Given the description of an element on the screen output the (x, y) to click on. 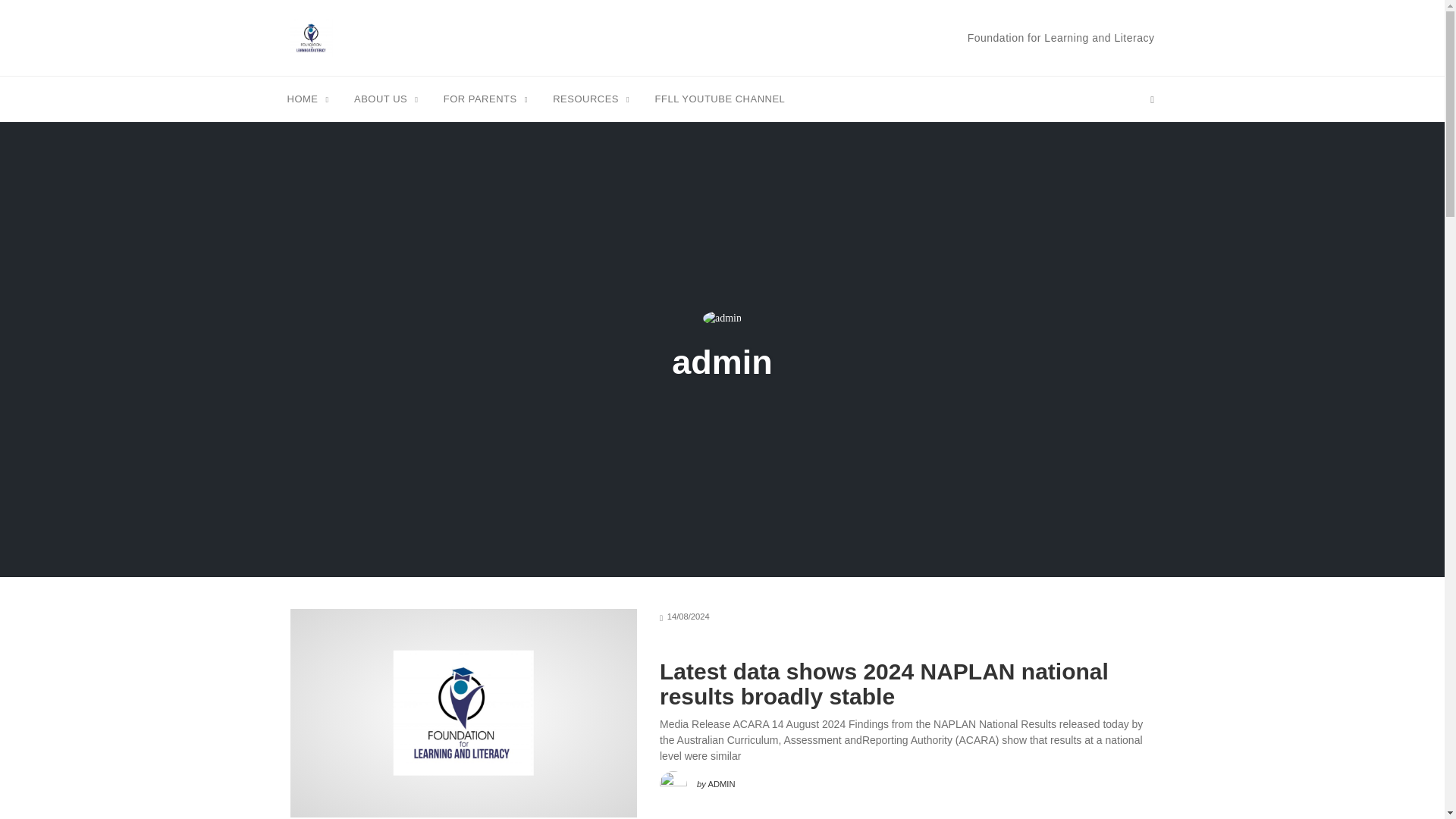
RESOURCES (590, 97)
ABOUT US (386, 97)
admin (722, 362)
HOME (308, 97)
Foundation for Learning and Literacy (310, 37)
by ADMIN (697, 780)
FFLL YOUTUBE CHANNEL (719, 97)
Foundation for Learning and Literacy (1061, 37)
FOR PARENTS (485, 97)
